Given the description of an element on the screen output the (x, y) to click on. 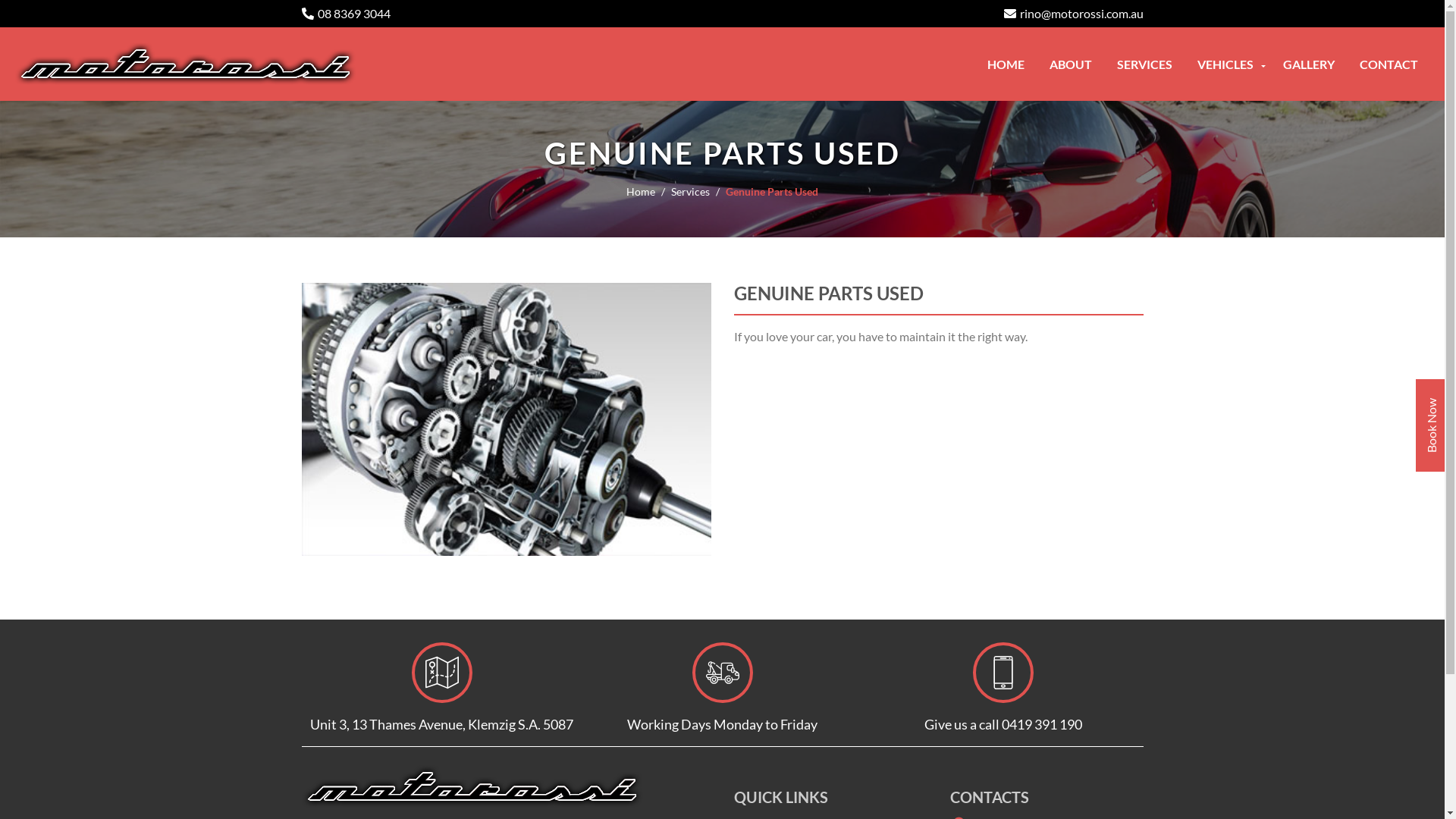
08 8369 3044 Element type: text (345, 13)
ABOUT Element type: text (1070, 63)
rino@motorossi.com.au Element type: text (1073, 13)
Motorossi Element type: hover (185, 61)
CONTACT Element type: text (1388, 63)
HOME Element type: text (1005, 63)
GALLERY Element type: text (1308, 63)
Home Element type: text (648, 191)
Services Element type: text (698, 191)
VEHICLES Element type: text (1227, 63)
Motorossi Element type: hover (472, 784)
SERVICES Element type: text (1144, 63)
